Given the description of an element on the screen output the (x, y) to click on. 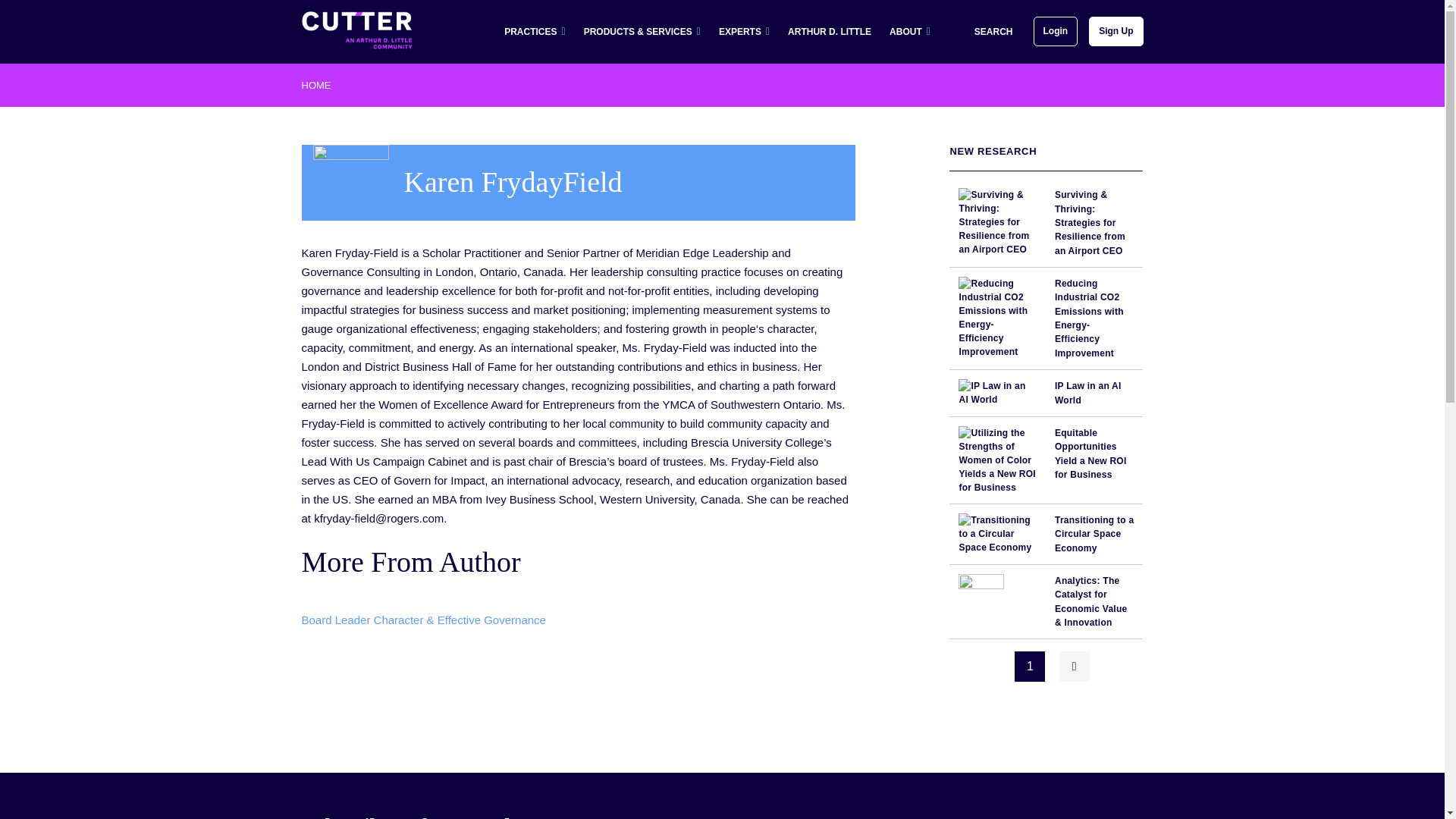
HOME (316, 84)
Login (1055, 30)
Home (356, 29)
Skip to main content (721, 1)
EXPERTS (744, 31)
SEARCH (980, 31)
ARTHUR D. LITTLE (829, 31)
PRACTICES (534, 31)
ABOUT (909, 31)
Sign Up (1115, 30)
